Given the description of an element on the screen output the (x, y) to click on. 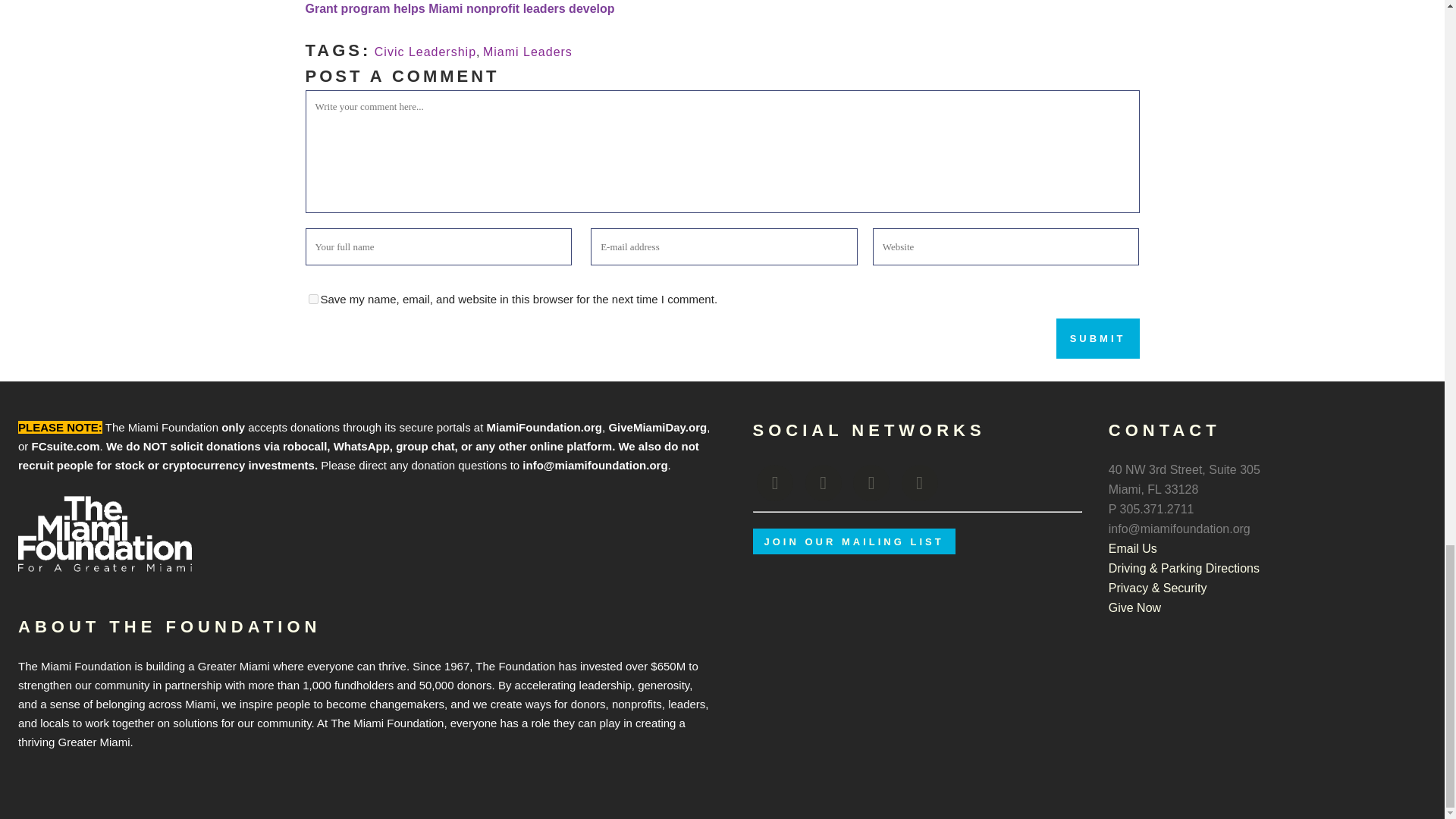
yes (312, 298)
Submit (1098, 338)
